Given the description of an element on the screen output the (x, y) to click on. 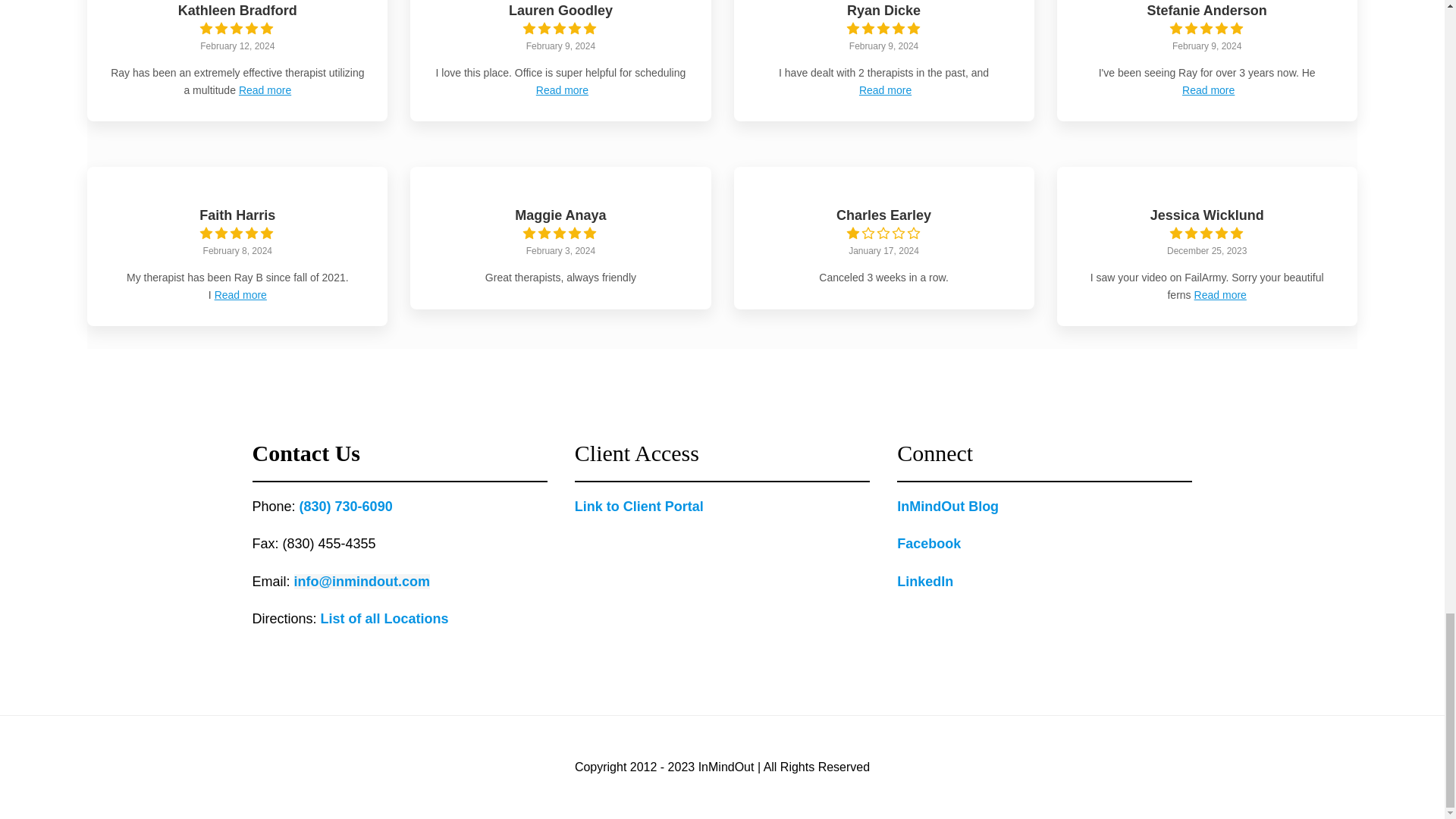
Kathleen Bradford (237, 11)
Ryan Dicke (883, 11)
Lauren Goodley (560, 11)
